Given the description of an element on the screen output the (x, y) to click on. 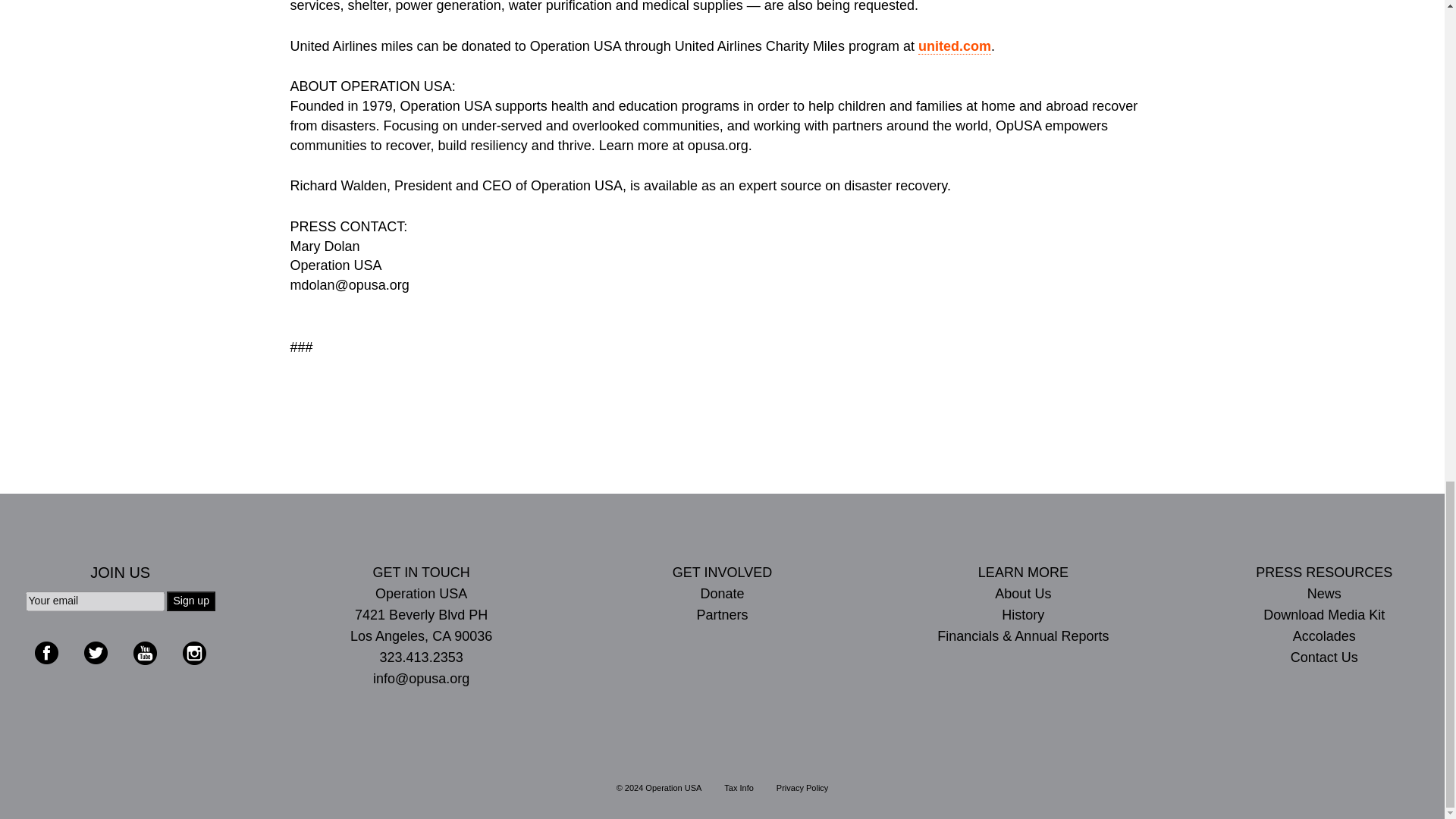
Partners (721, 614)
Contact Us (1323, 657)
Sign up (190, 600)
Donate (721, 593)
History (1022, 614)
united.com (954, 46)
News (1323, 593)
Accolades (1323, 636)
Download Media Kit (1323, 614)
About Us (1022, 593)
